Given the description of an element on the screen output the (x, y) to click on. 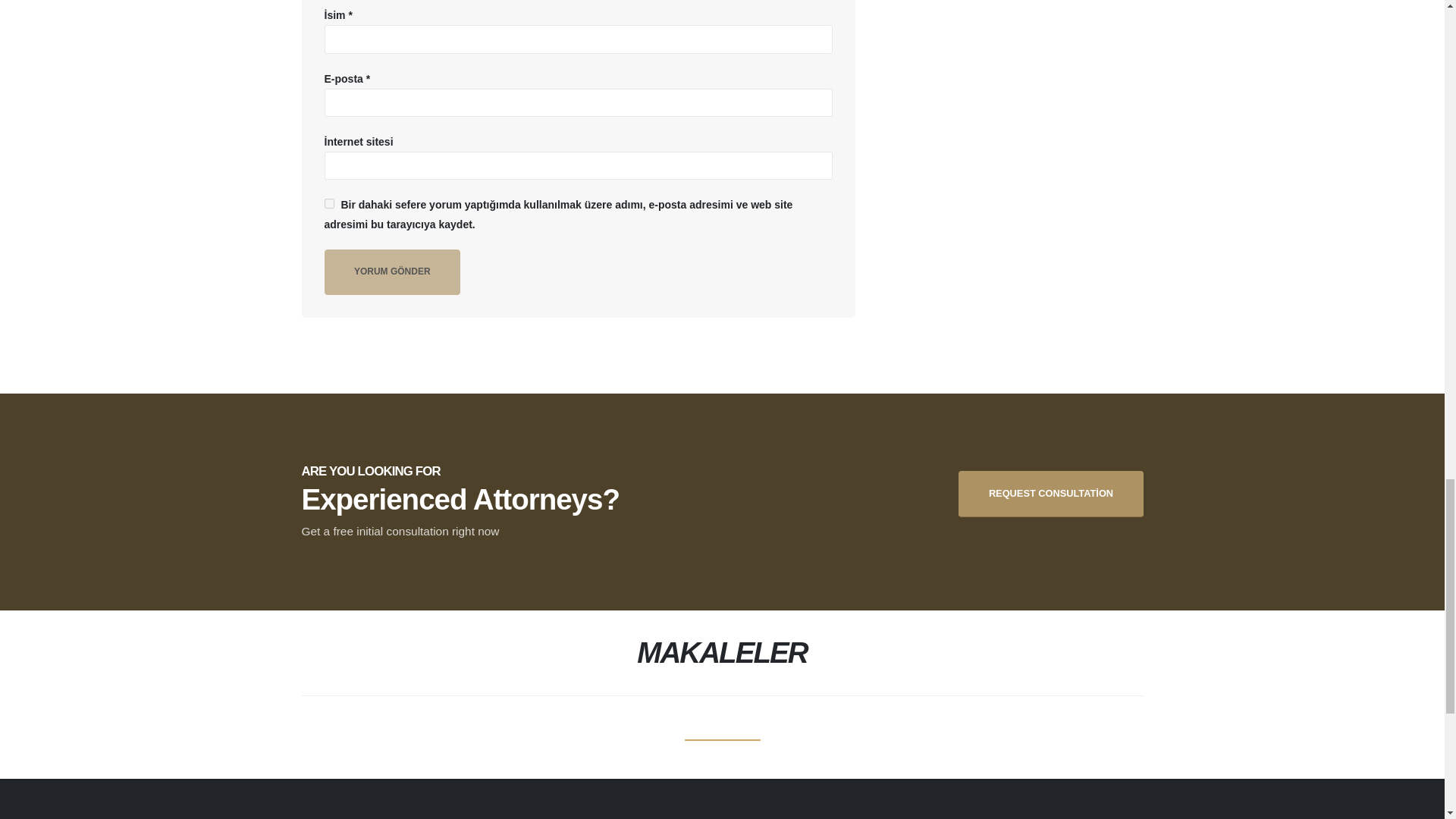
yes (329, 203)
